Given the description of an element on the screen output the (x, y) to click on. 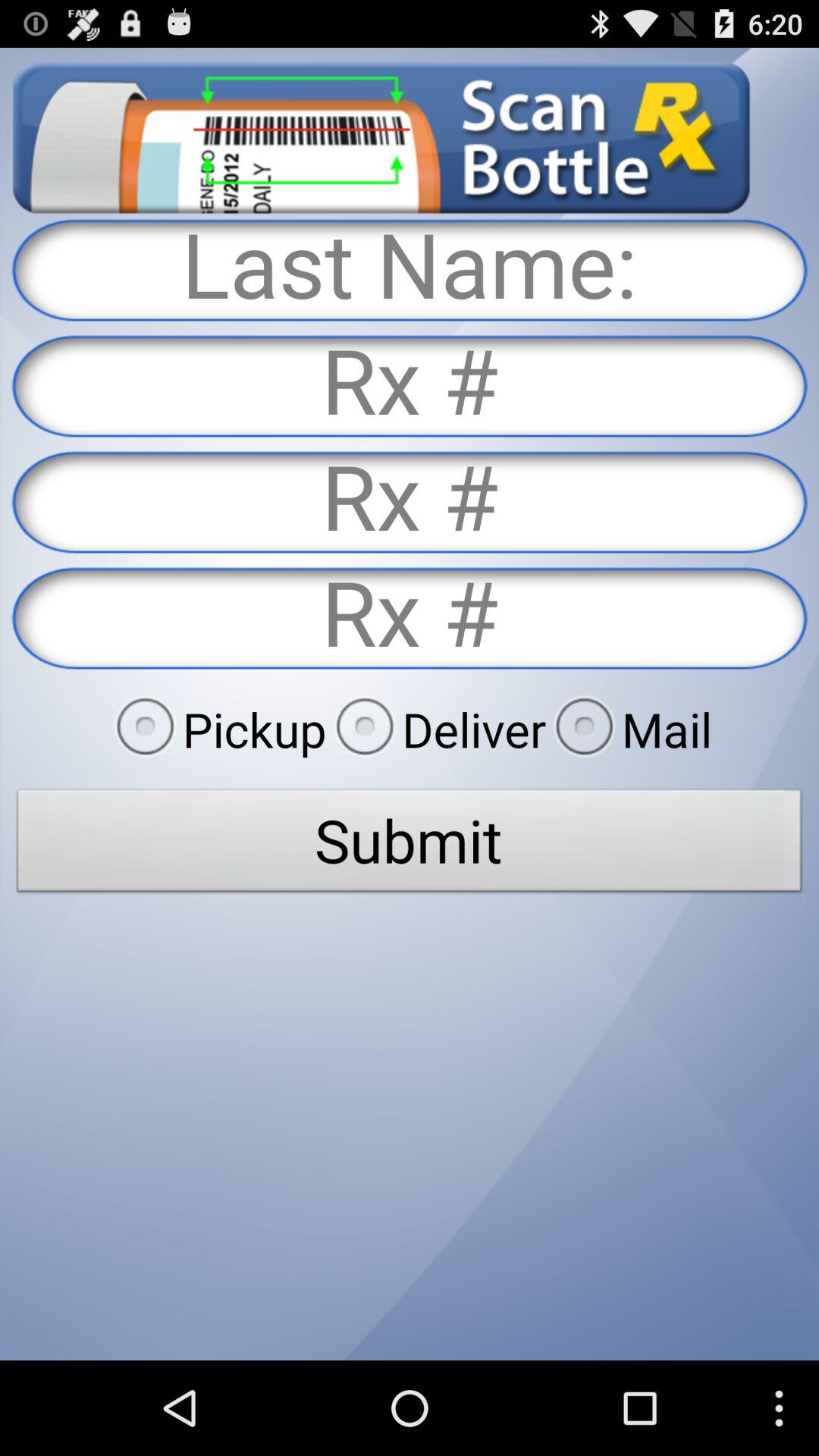
launch the submit item (409, 844)
